Given the description of an element on the screen output the (x, y) to click on. 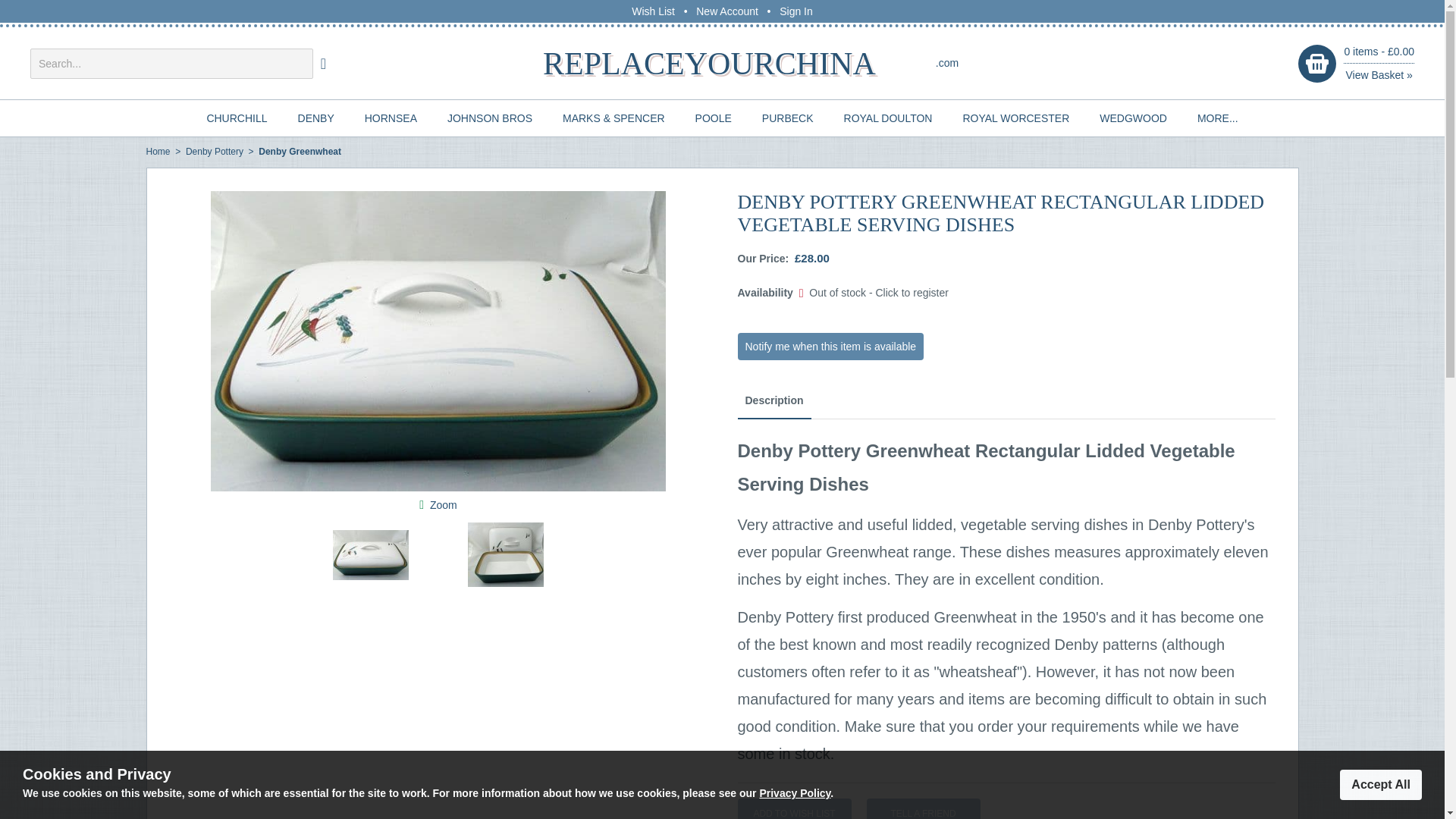
TELL A FRIEND (922, 808)
Description (773, 400)
ADD TO WISH LIST (793, 808)
Notify me when this item is available (829, 346)
Zoom (443, 504)
